Given the description of an element on the screen output the (x, y) to click on. 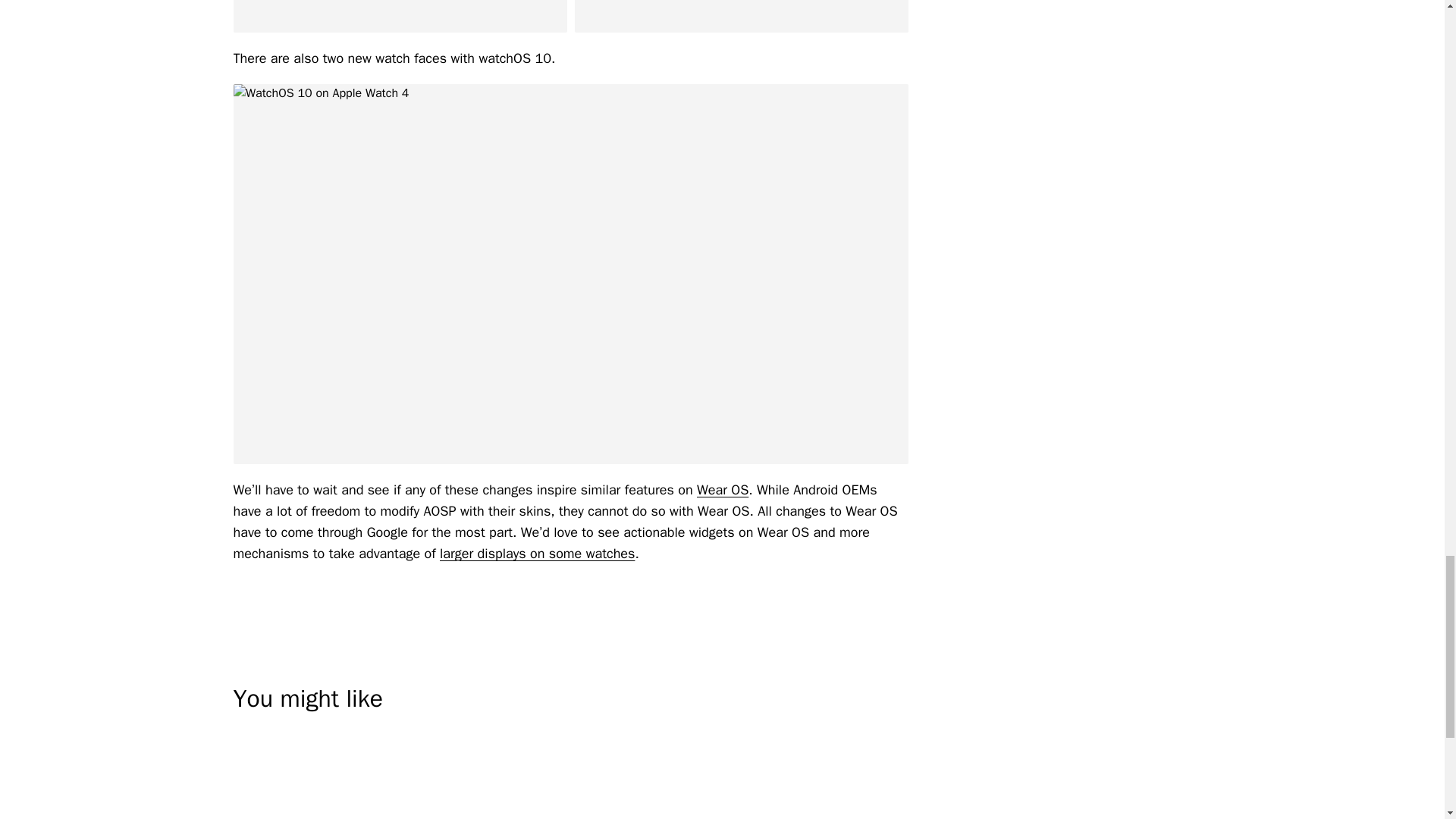
Apple WWDC 2023 watchos 10 colors (741, 16)
larger displays on some watches (536, 553)
Wear OS (722, 489)
Apple WWDC 2023 watchos 10 snoopy (399, 16)
